Given the description of an element on the screen output the (x, y) to click on. 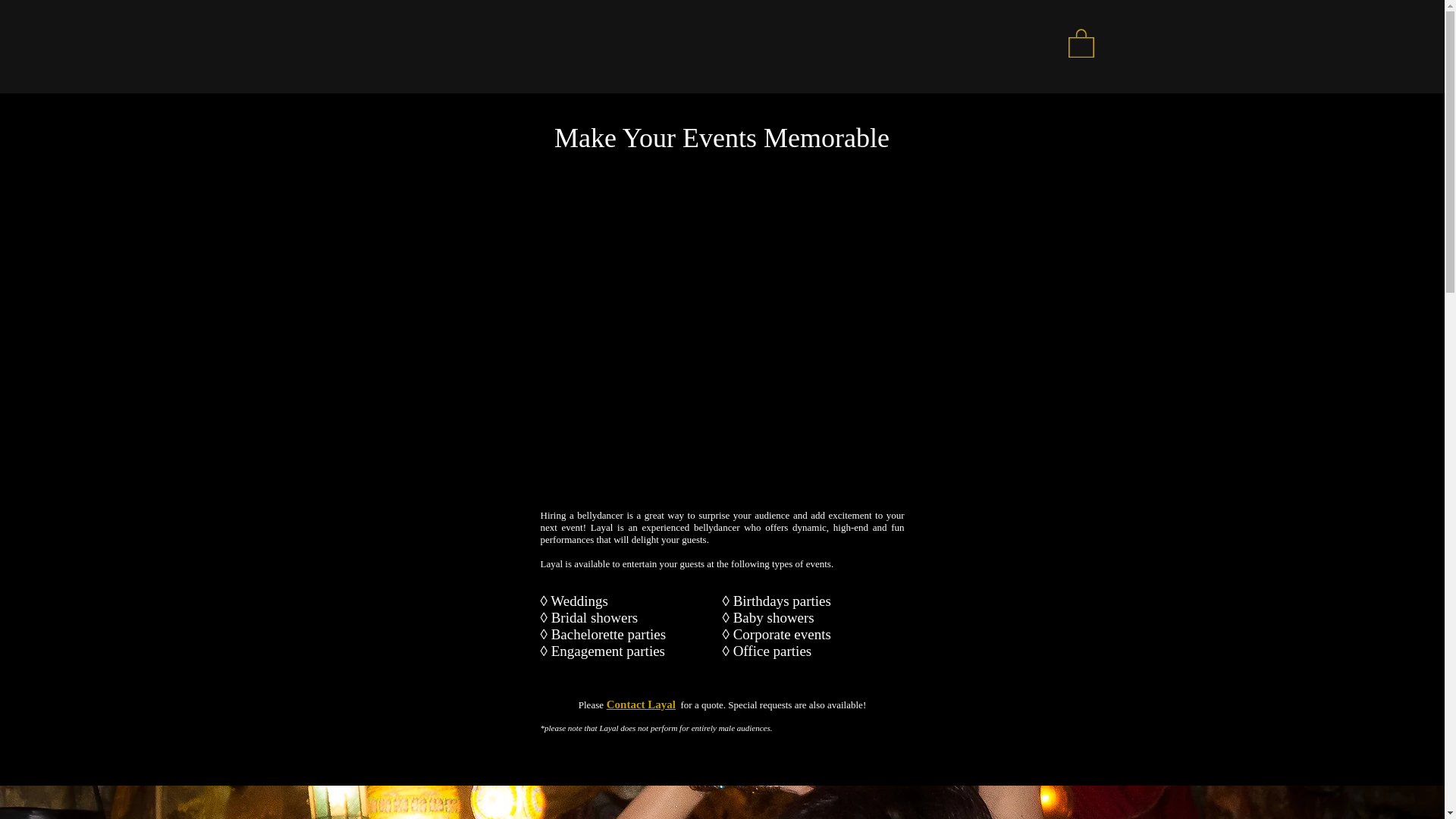
Contact Layal (641, 704)
